Given the description of an element on the screen output the (x, y) to click on. 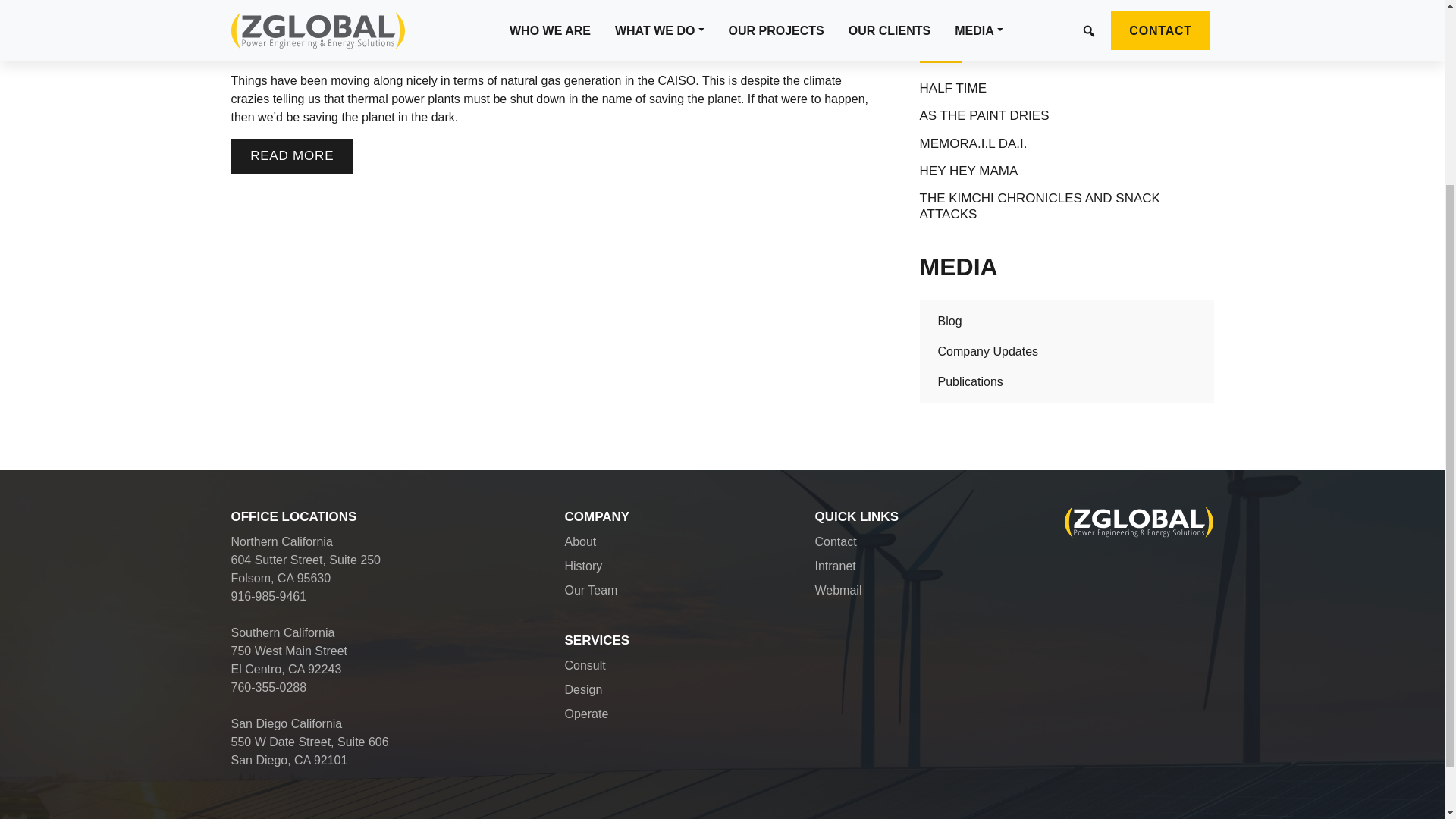
Consult (584, 665)
Blog (949, 320)
Our Team (590, 590)
MEMORA.I.L DA.I. (973, 143)
HALF TIME (953, 88)
About (579, 541)
Webmail (837, 590)
Operate (586, 713)
THE KIMCHI CHRONICLES AND SNACK ATTACKS (1067, 205)
Publications (970, 381)
AS THE PAINT DRIES (984, 115)
Contact (834, 541)
Company Updates (988, 350)
History (583, 565)
Intranet (834, 565)
